Given the description of an element on the screen output the (x, y) to click on. 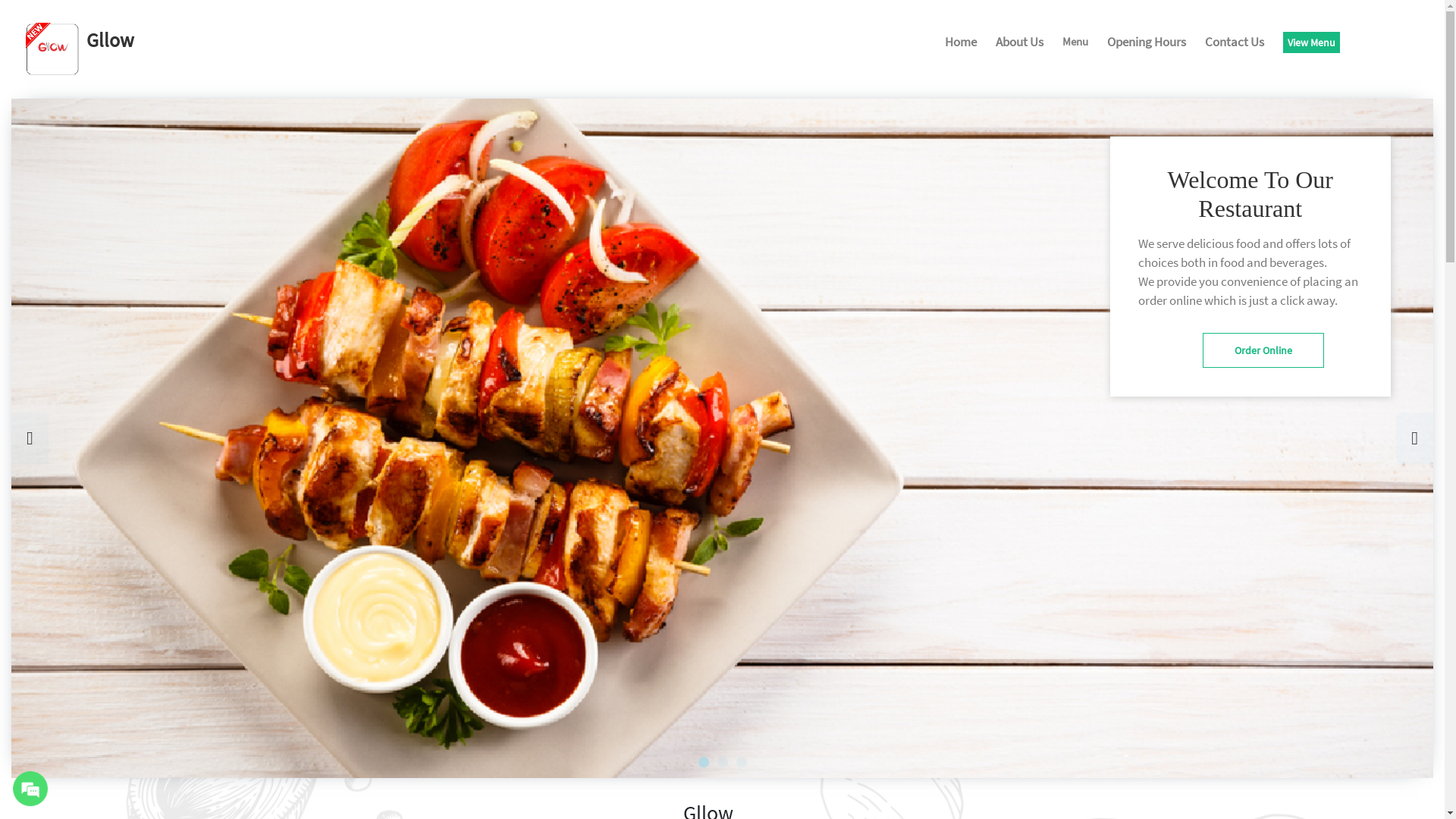
Order Online Element type: text (1263, 349)
Contact Us Element type: text (1234, 43)
View Menu Element type: text (1311, 42)
About Us Element type: text (1019, 43)
Menu Element type: text (1075, 42)
Home Element type: text (960, 43)
Opening Hours Element type: text (1146, 43)
